Given the description of an element on the screen output the (x, y) to click on. 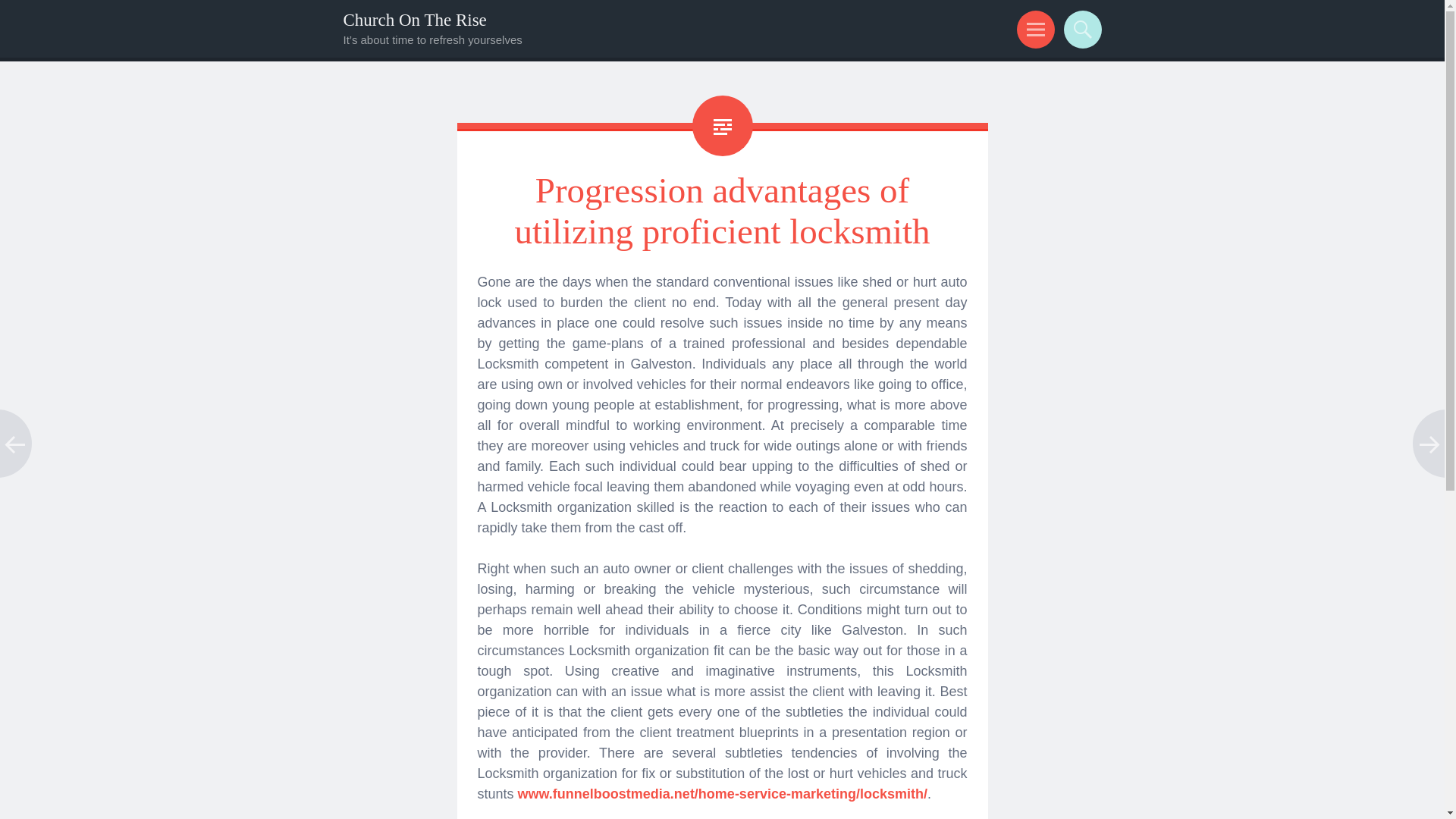
Church On The Rise (414, 19)
Menu (1032, 29)
Search (1080, 29)
